Given the description of an element on the screen output the (x, y) to click on. 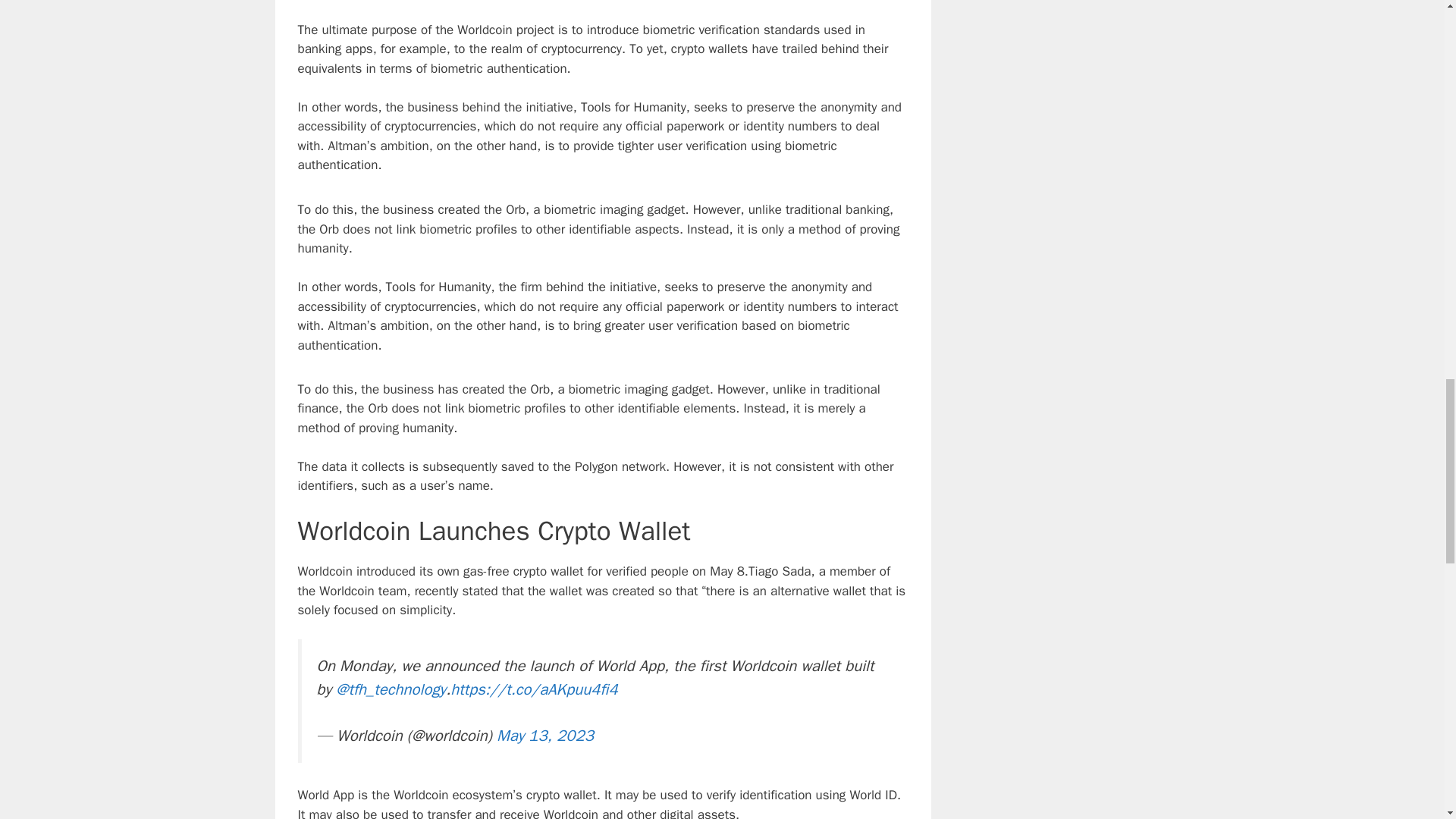
May 13, 2023 (545, 735)
